Given the description of an element on the screen output the (x, y) to click on. 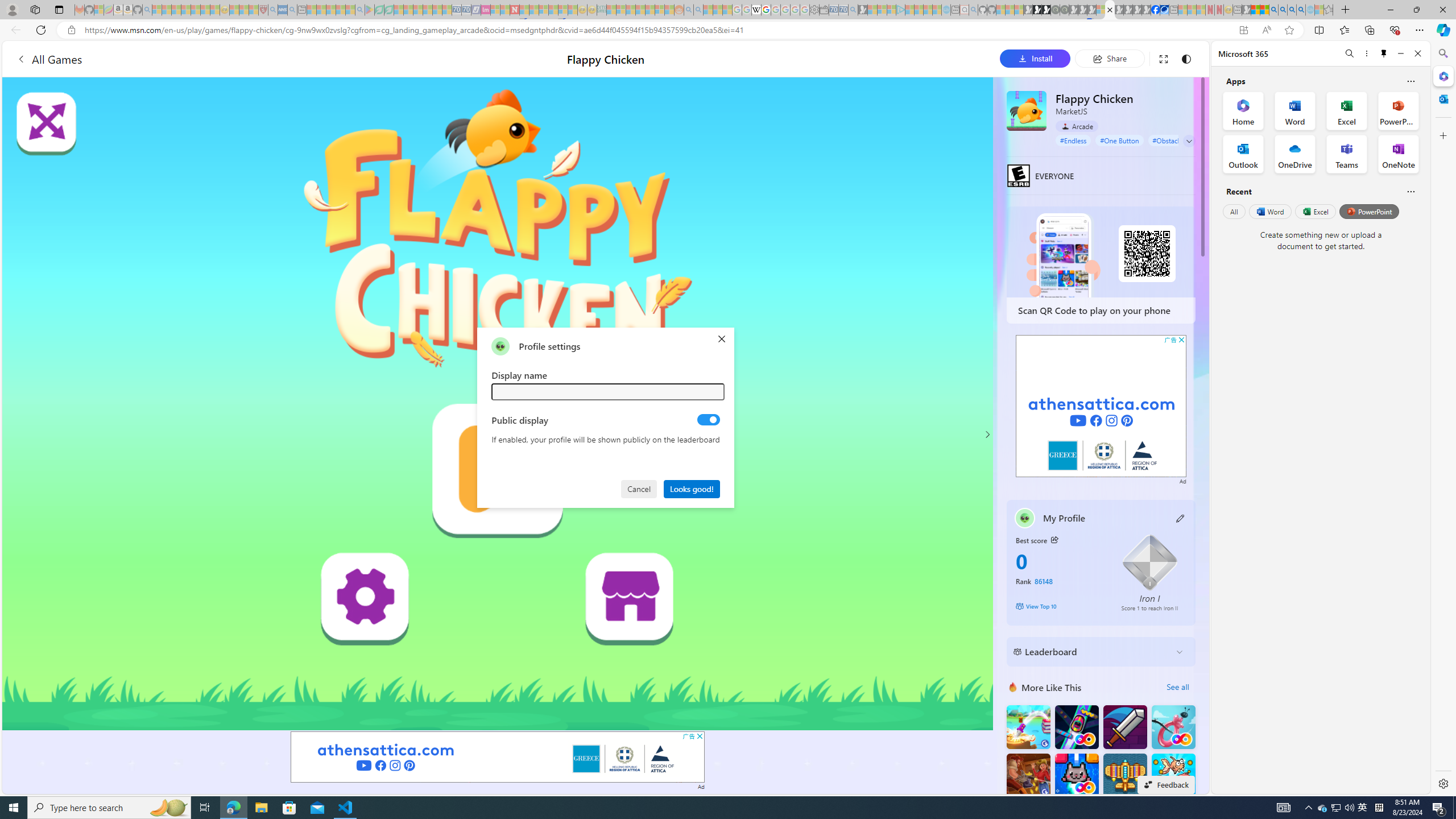
Unpin side pane (1383, 53)
Fish Merge FRVR (1173, 775)
Microsoft Start - Sleeping (927, 9)
Saloon Robbery (1028, 775)
Robert H. Shmerling, MD - Harvard Health - Sleeping (263, 9)
Kitten Force FRVR (1076, 775)
Pets - MSN - Sleeping (340, 9)
